Given the description of an element on the screen output the (x, y) to click on. 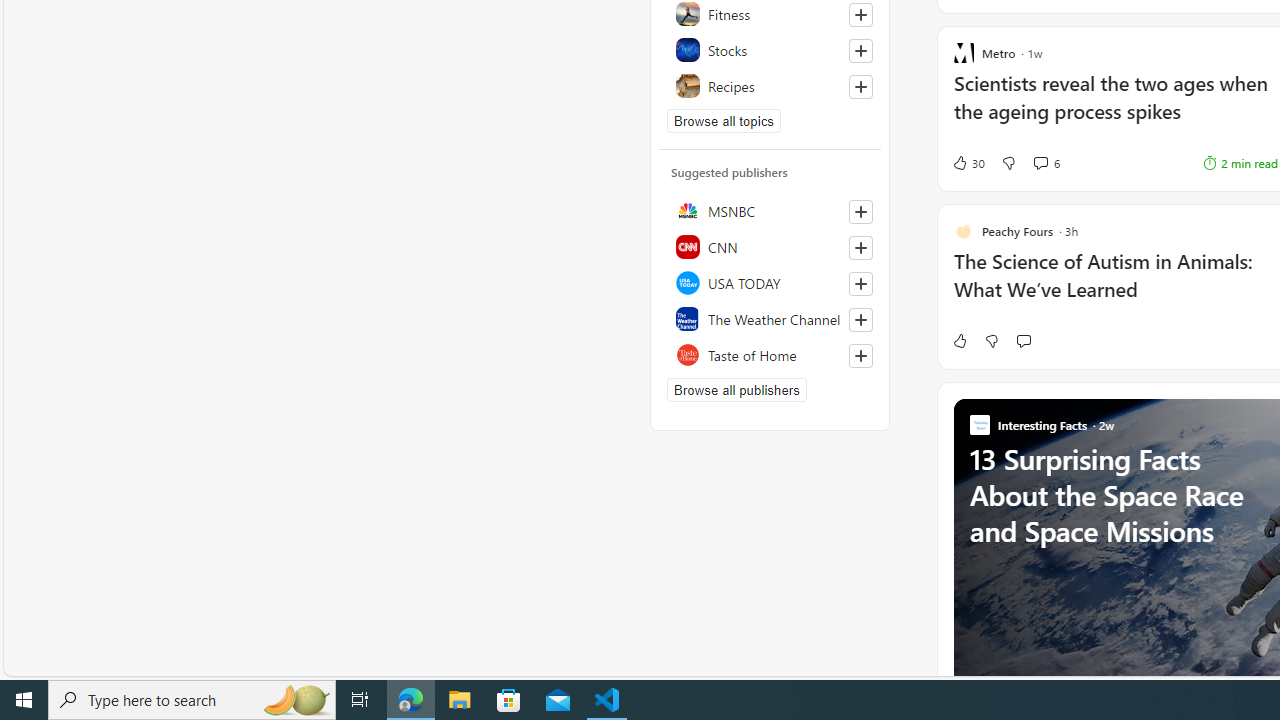
View comments 6 Comment (1040, 162)
30 Like (968, 162)
The Weather Channel (770, 318)
Browse all publishers (736, 389)
Stocks (770, 49)
MSNBC (770, 210)
USA TODAY (770, 282)
